Given the description of an element on the screen output the (x, y) to click on. 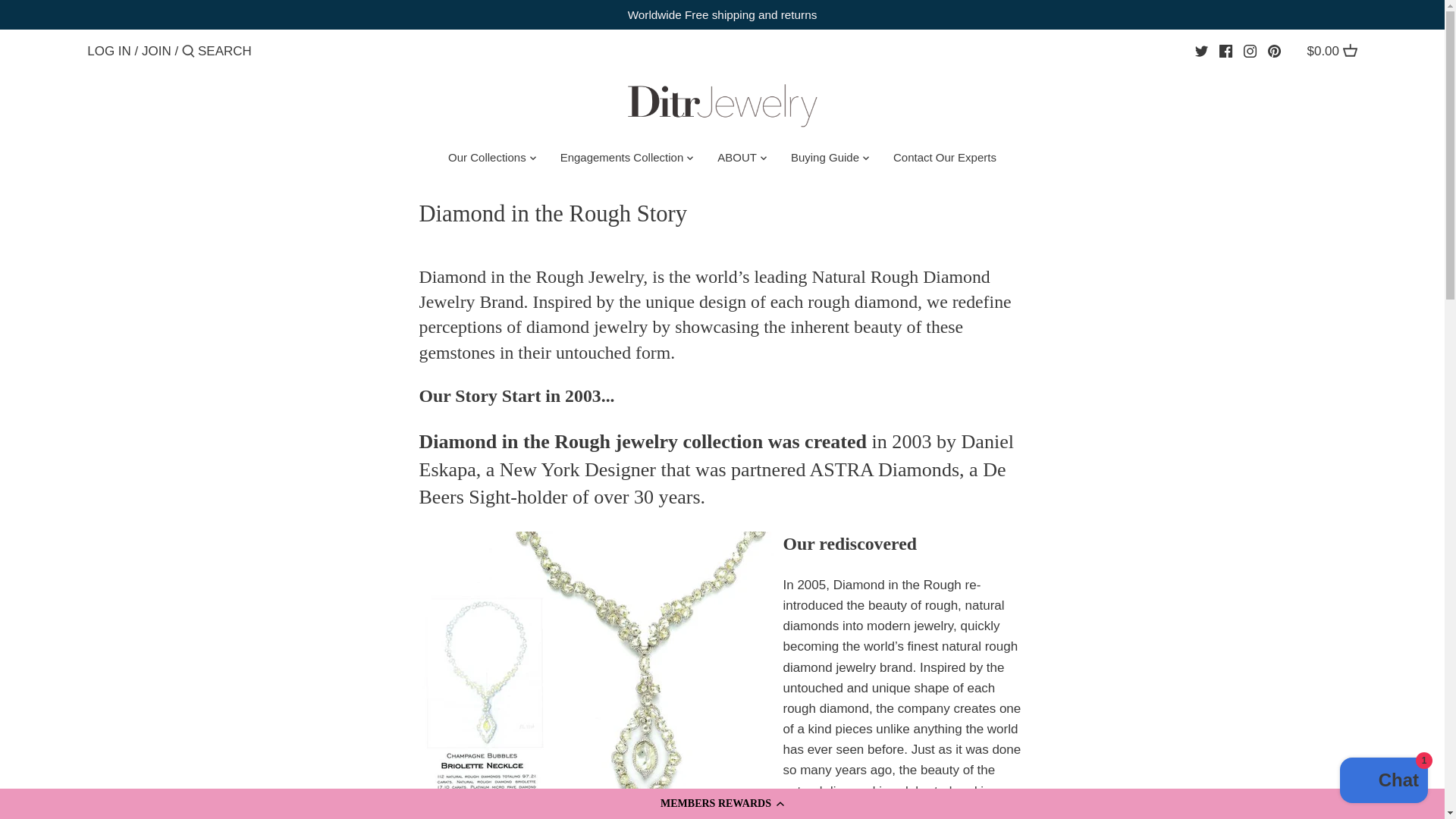
PINTEREST (1274, 51)
LOG IN (109, 51)
INSTAGRAM (1249, 51)
JOIN (156, 51)
Buying Guide (824, 160)
TWITTER (1201, 51)
Our Collections (486, 160)
ABOUT (737, 160)
FACEBOOK (1225, 51)
Engagements Collection (621, 160)
